Given the description of an element on the screen output the (x, y) to click on. 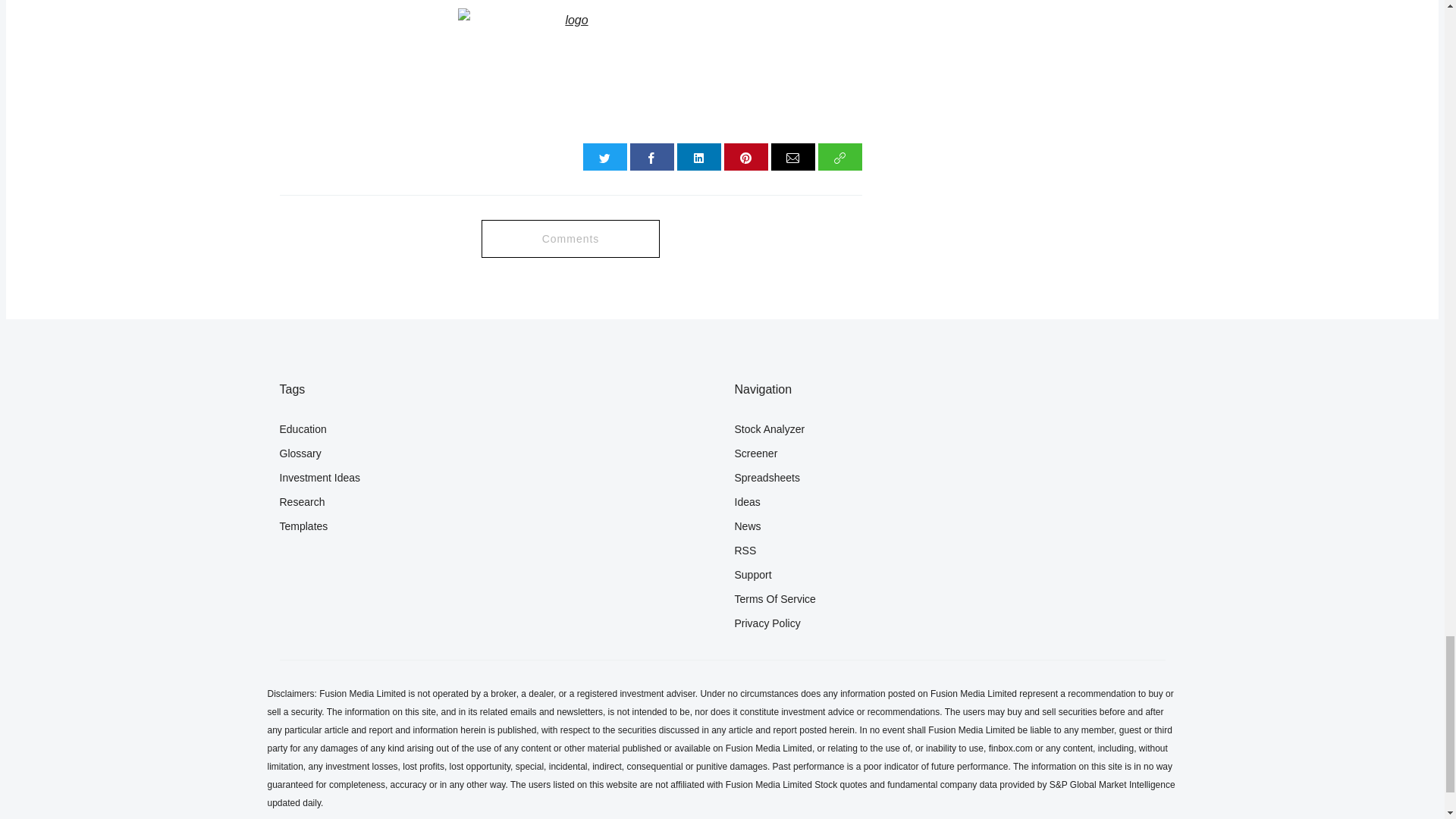
Share on LinkedIn (698, 156)
Share on Facebook (652, 156)
Share on Pinterest (745, 156)
Comments (570, 238)
Copy link (839, 156)
Share on Twitter (605, 156)
Share via Email (793, 156)
